Given the description of an element on the screen output the (x, y) to click on. 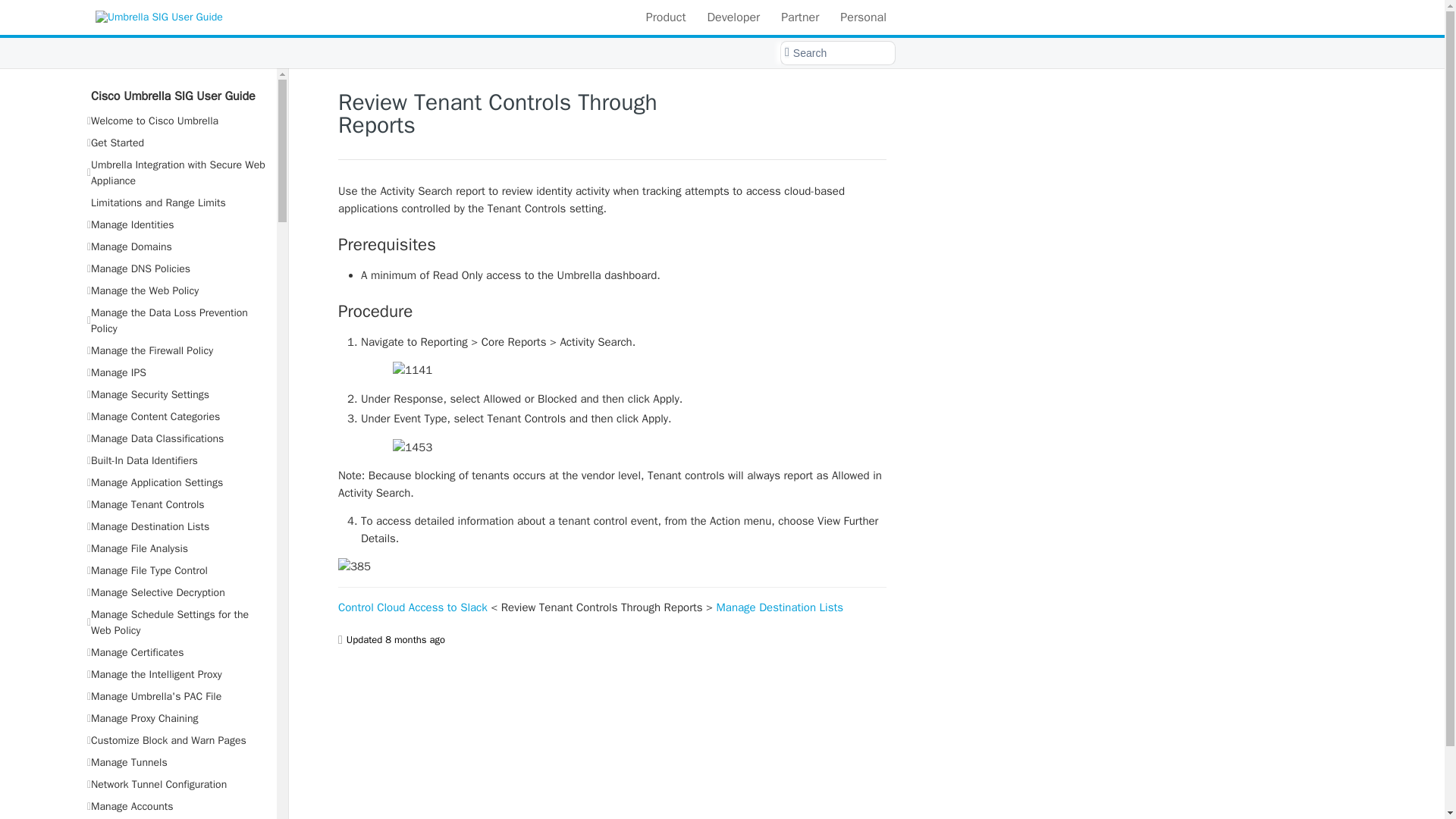
Personal (863, 16)
Welcome to Cisco Umbrella (176, 120)
Partner (800, 16)
Get Started (176, 142)
activity-search.png (612, 370)
Search (837, 52)
tenant control details.png (611, 566)
Procedure (611, 311)
Prerequisites (611, 243)
tenasnt controls.png (612, 446)
